Given the description of an element on the screen output the (x, y) to click on. 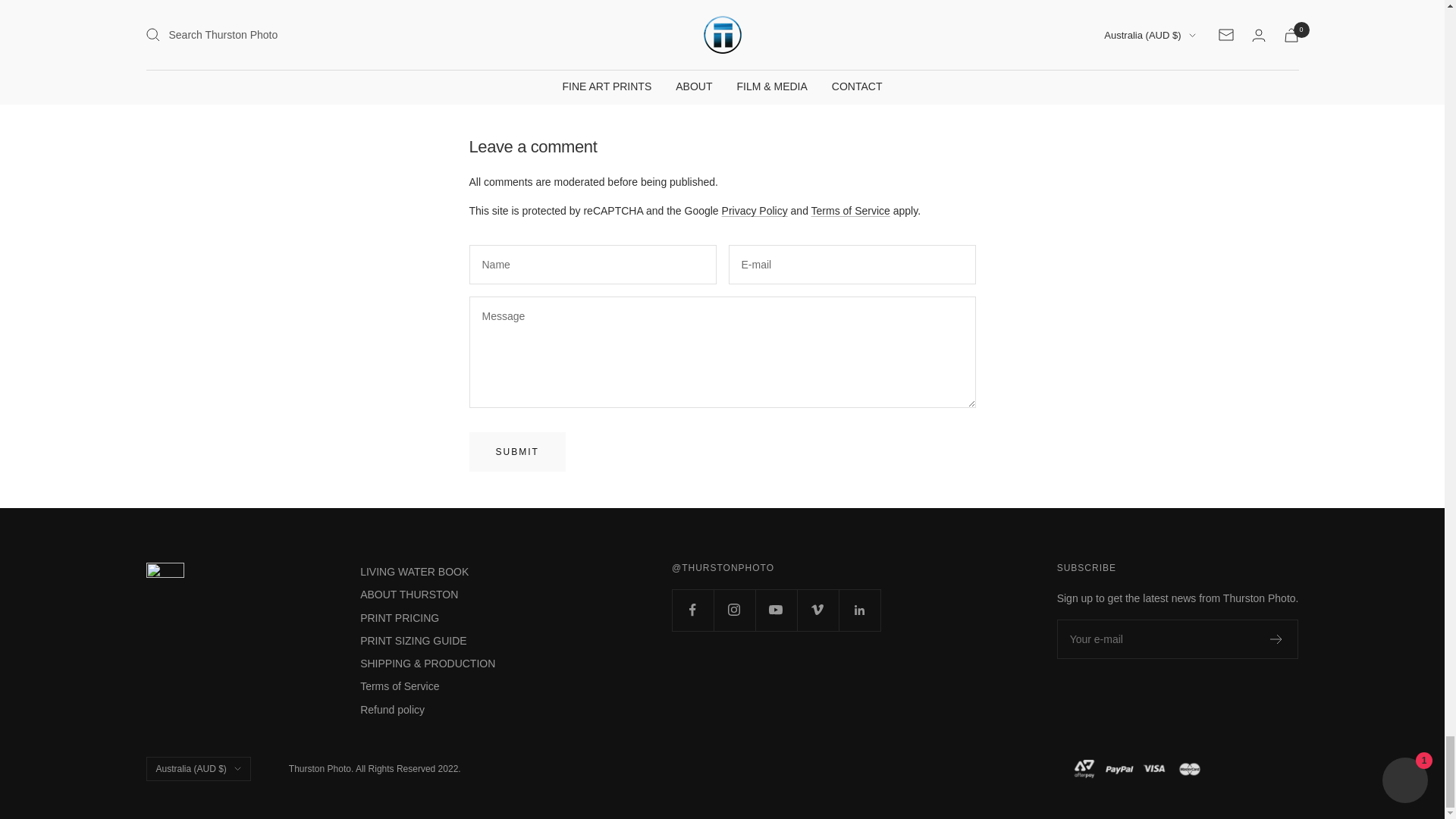
Register (1275, 638)
